Given the description of an element on the screen output the (x, y) to click on. 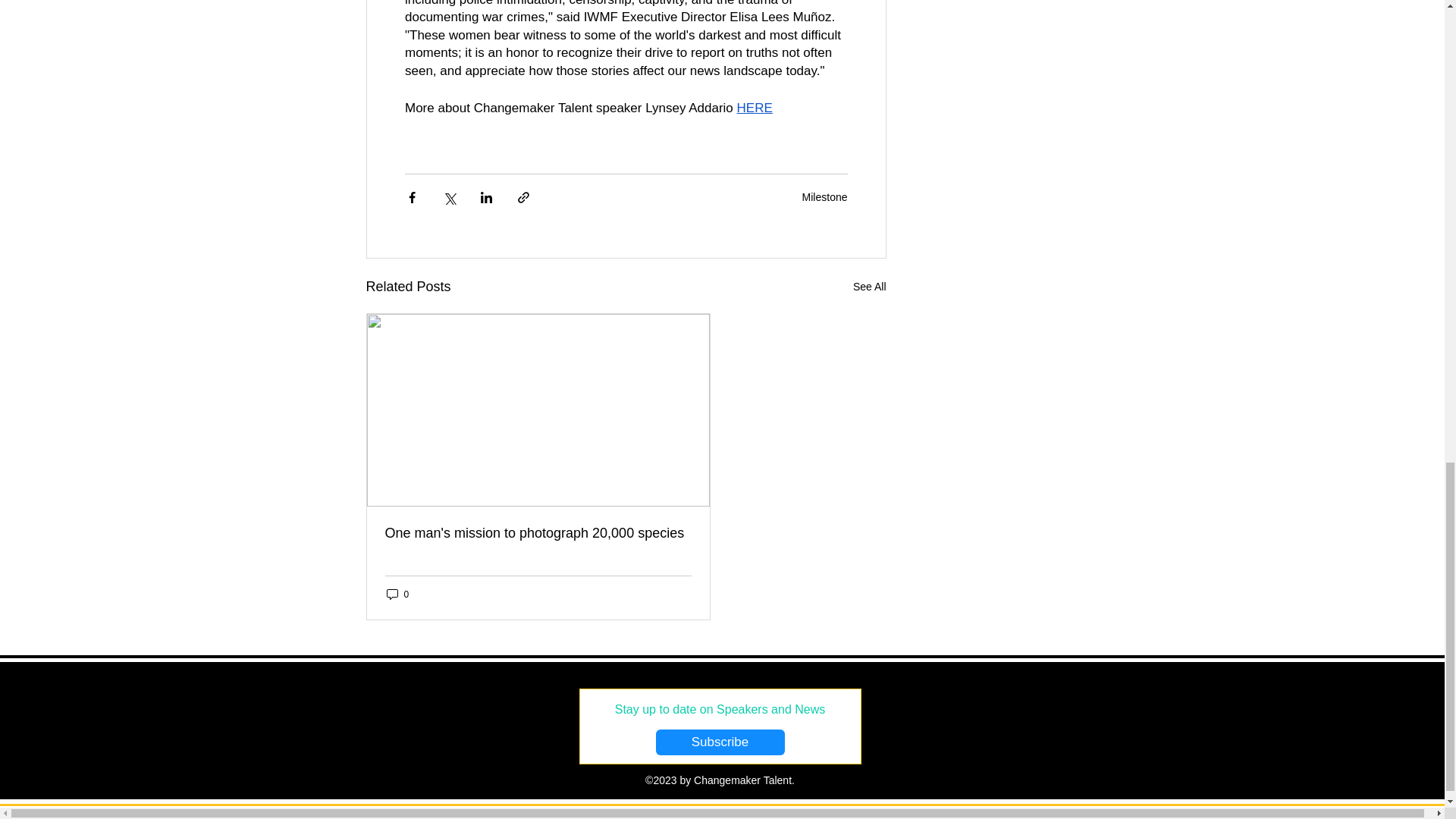
See All (869, 287)
0 (397, 594)
Milestone (824, 196)
HERE (753, 107)
One man's mission to photograph 20,000 species (538, 533)
Subscribe (719, 742)
